Given the description of an element on the screen output the (x, y) to click on. 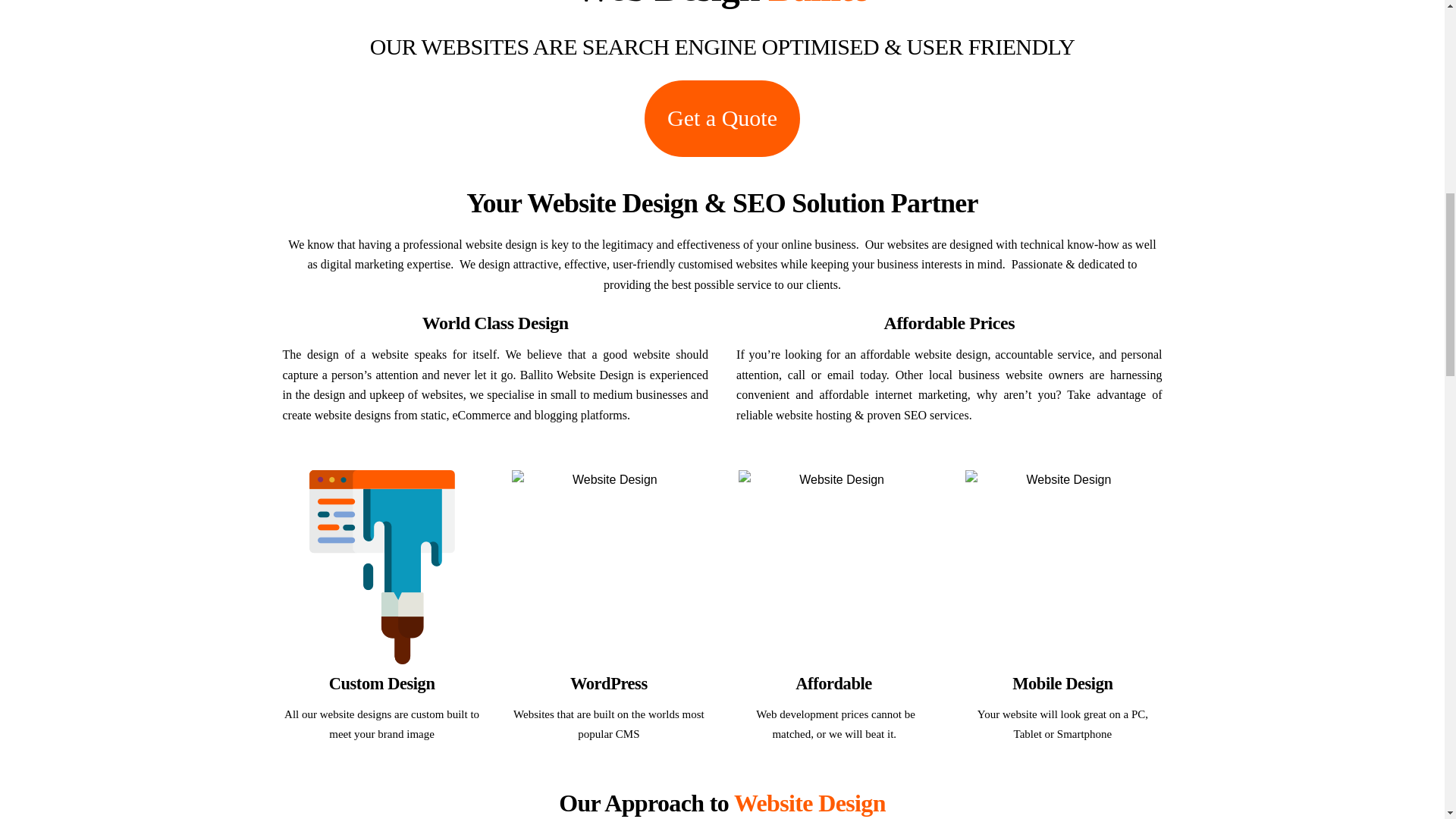
Website Design (835, 567)
Website Design (1061, 567)
Website Design (382, 567)
Website Design (609, 567)
Get a Quote (722, 118)
